Given the description of an element on the screen output the (x, y) to click on. 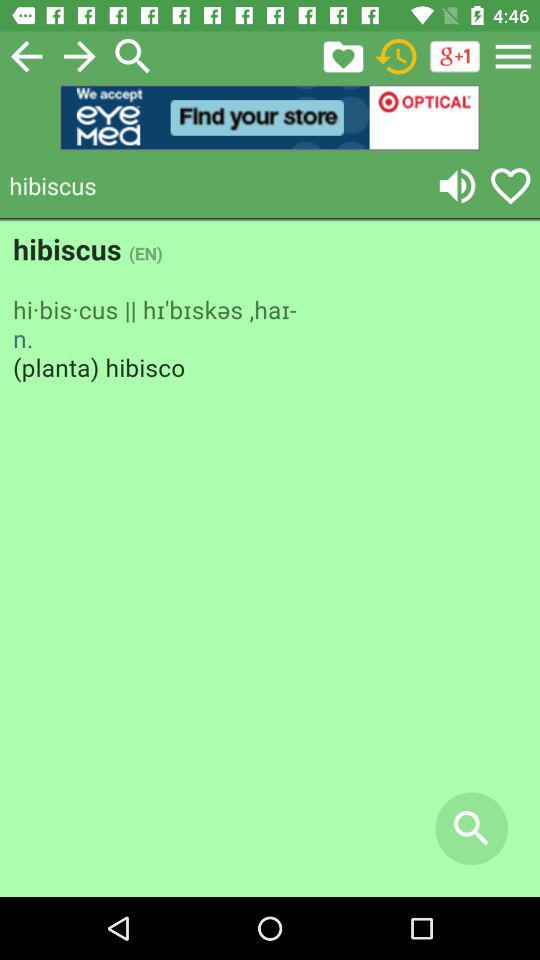
hear pronunciation (457, 185)
